Given the description of an element on the screen output the (x, y) to click on. 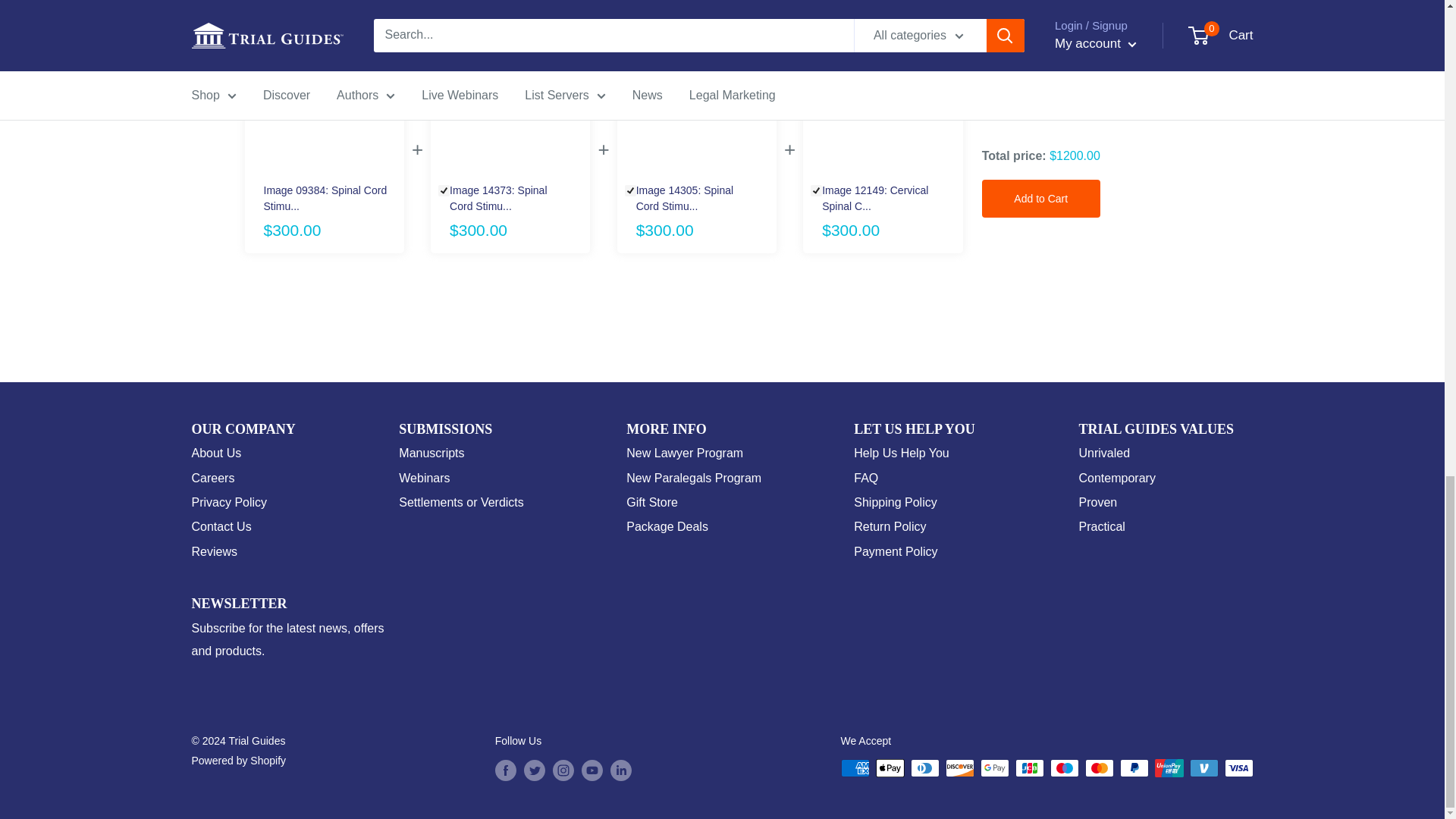
Image 14373: Spinal Cord Stimulator Illustration (510, 103)
Image 14373: Spinal Cord Stimulator Illustration (506, 198)
Image 14305: Spinal Cord Stimulator Illustration (696, 103)
Image 09384: Spinal Cord Stimulator Illustration (329, 198)
Image 14305: Spinal Cord Stimulator Illustration (693, 198)
Image 09384: Spinal Cord Stimulator Illustration (323, 103)
